Given the description of an element on the screen output the (x, y) to click on. 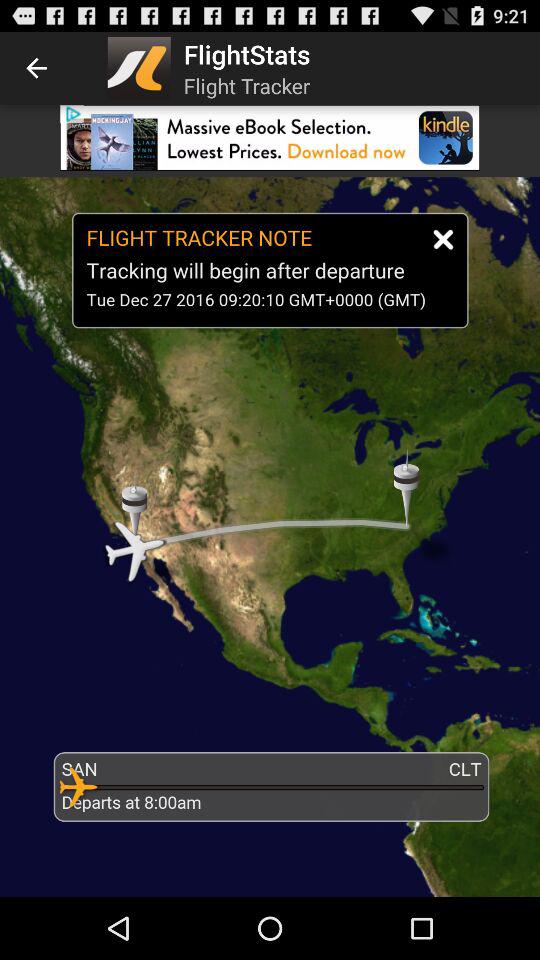
redirect to advertisement (270, 137)
